Given the description of an element on the screen output the (x, y) to click on. 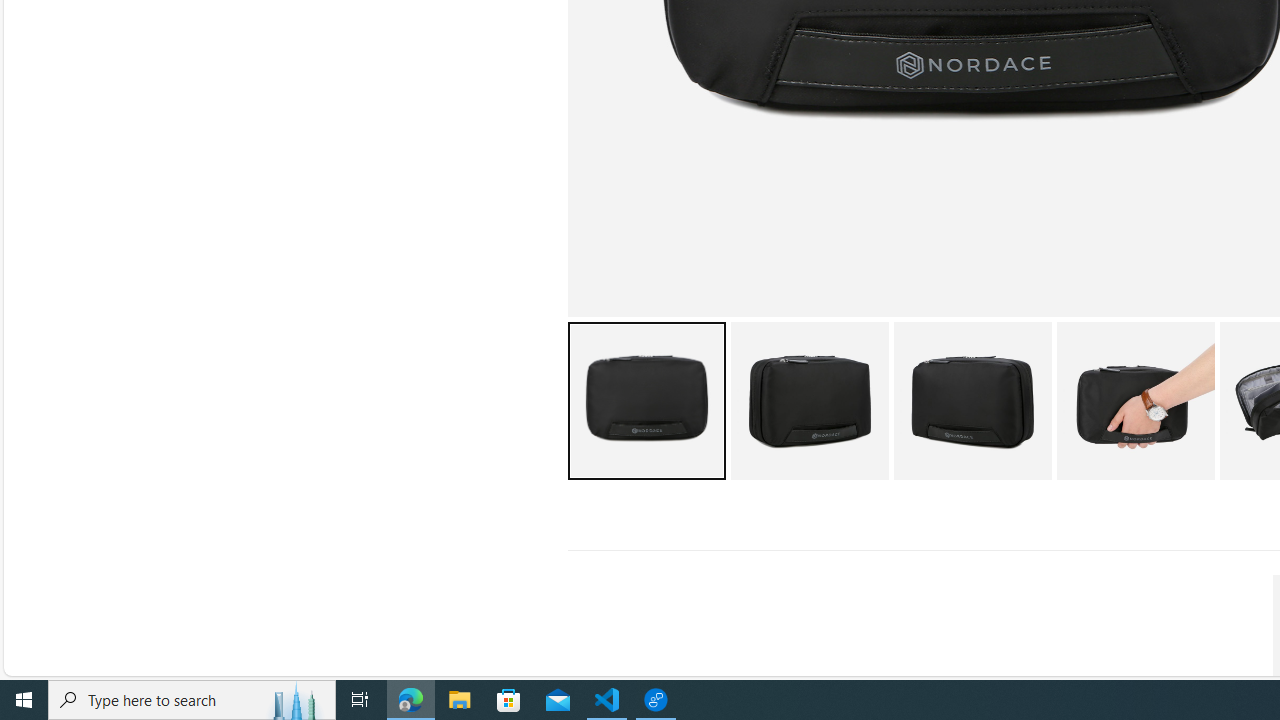
Nordace Ellie Tech Pouch (1135, 400)
